Given the description of an element on the screen output the (x, y) to click on. 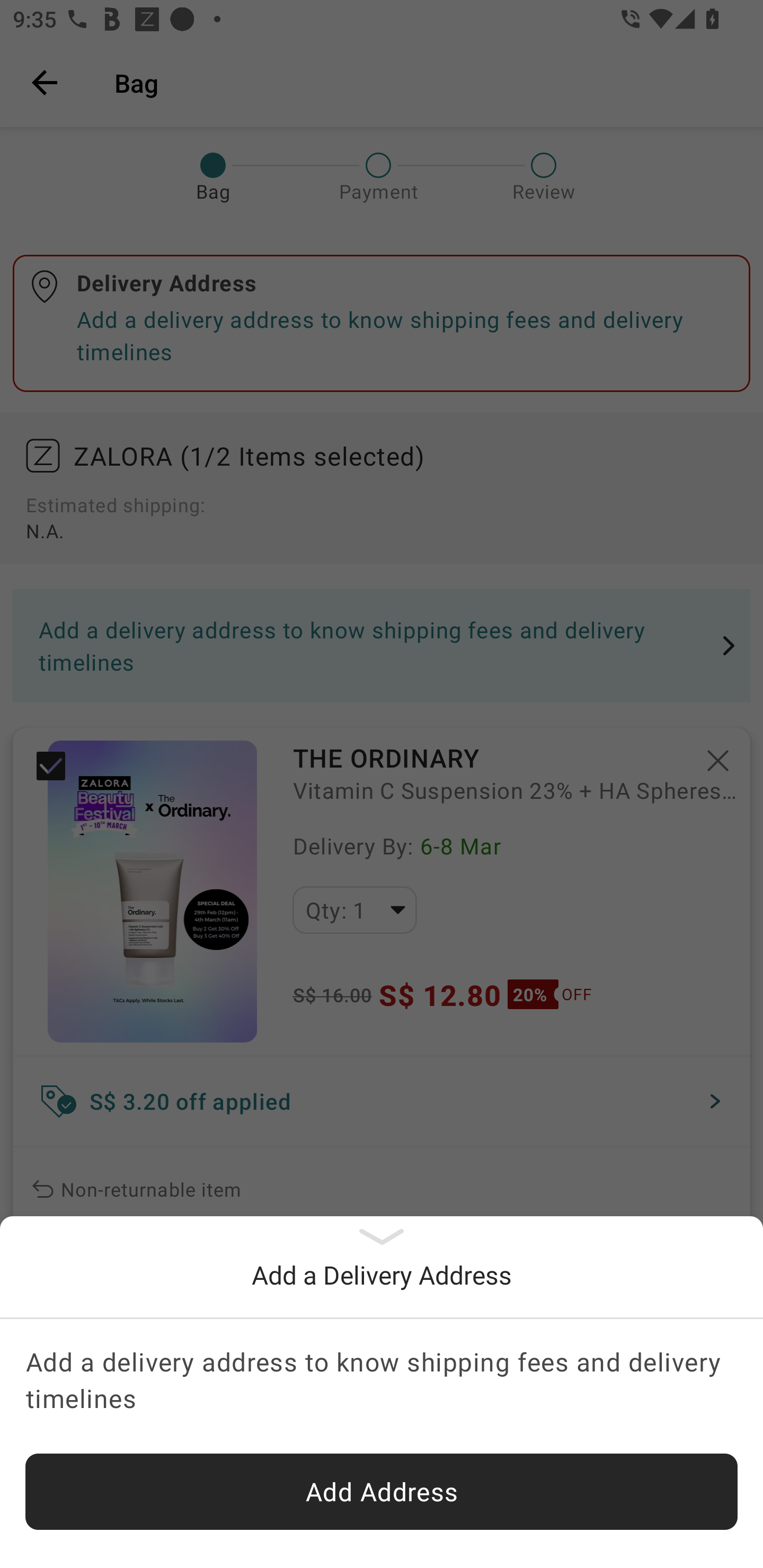
Add Address (381, 1491)
